Given the description of an element on the screen output the (x, y) to click on. 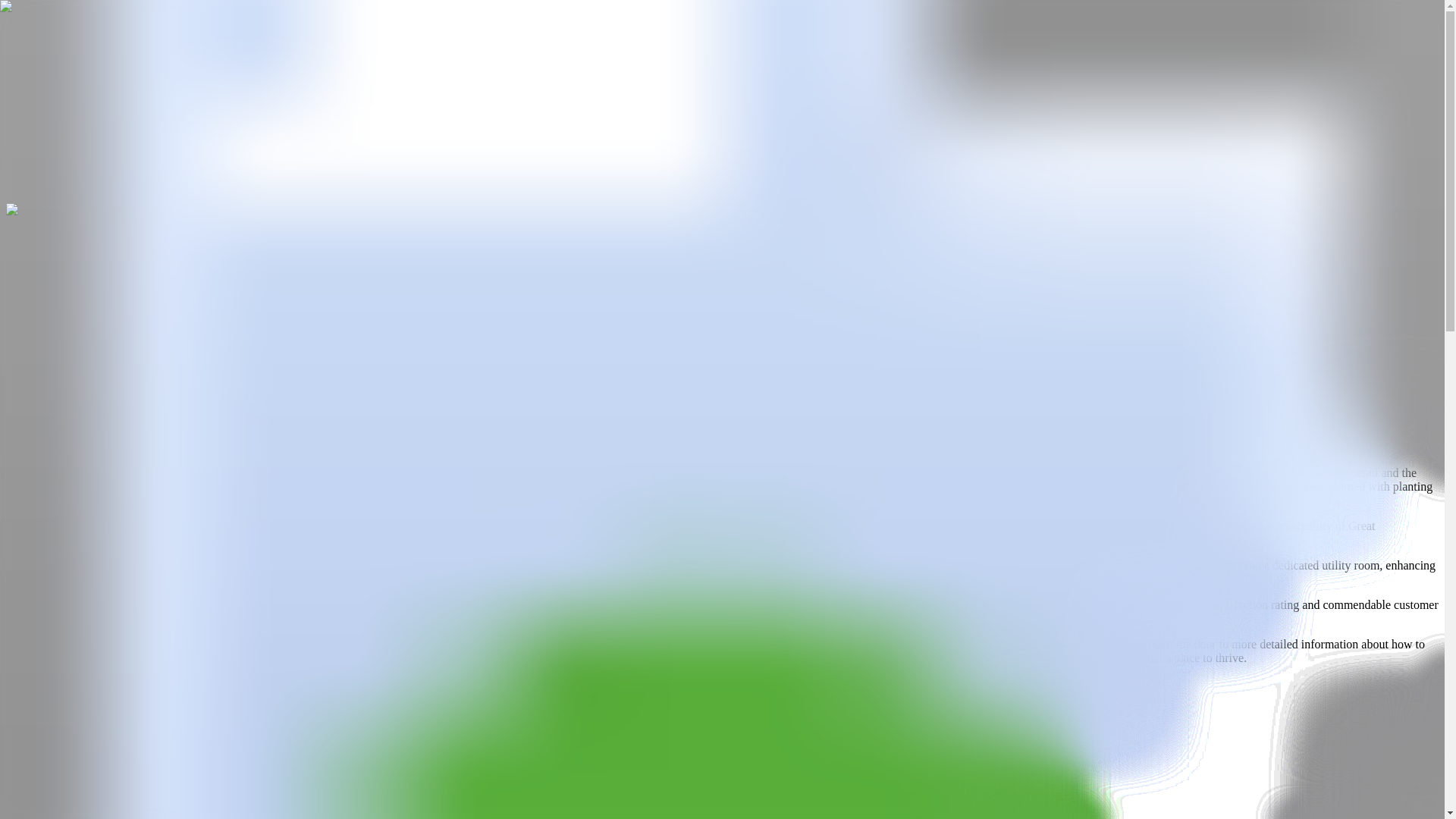
More properties from this developer (93, 195)
Essex (21, 102)
Great Chesterford (92, 102)
Shared Ownership Homes (170, 73)
Contact us (161, 395)
Build To Rent (268, 42)
Contact us (161, 362)
Secondary (82, 718)
Build To Rent (268, 73)
Shared Ownership Homes (170, 42)
Open main menu (50, 27)
Homes For Sale (68, 42)
Contact us (161, 379)
Developers (330, 73)
Homes For Sale (68, 73)
